Given the description of an element on the screen output the (x, y) to click on. 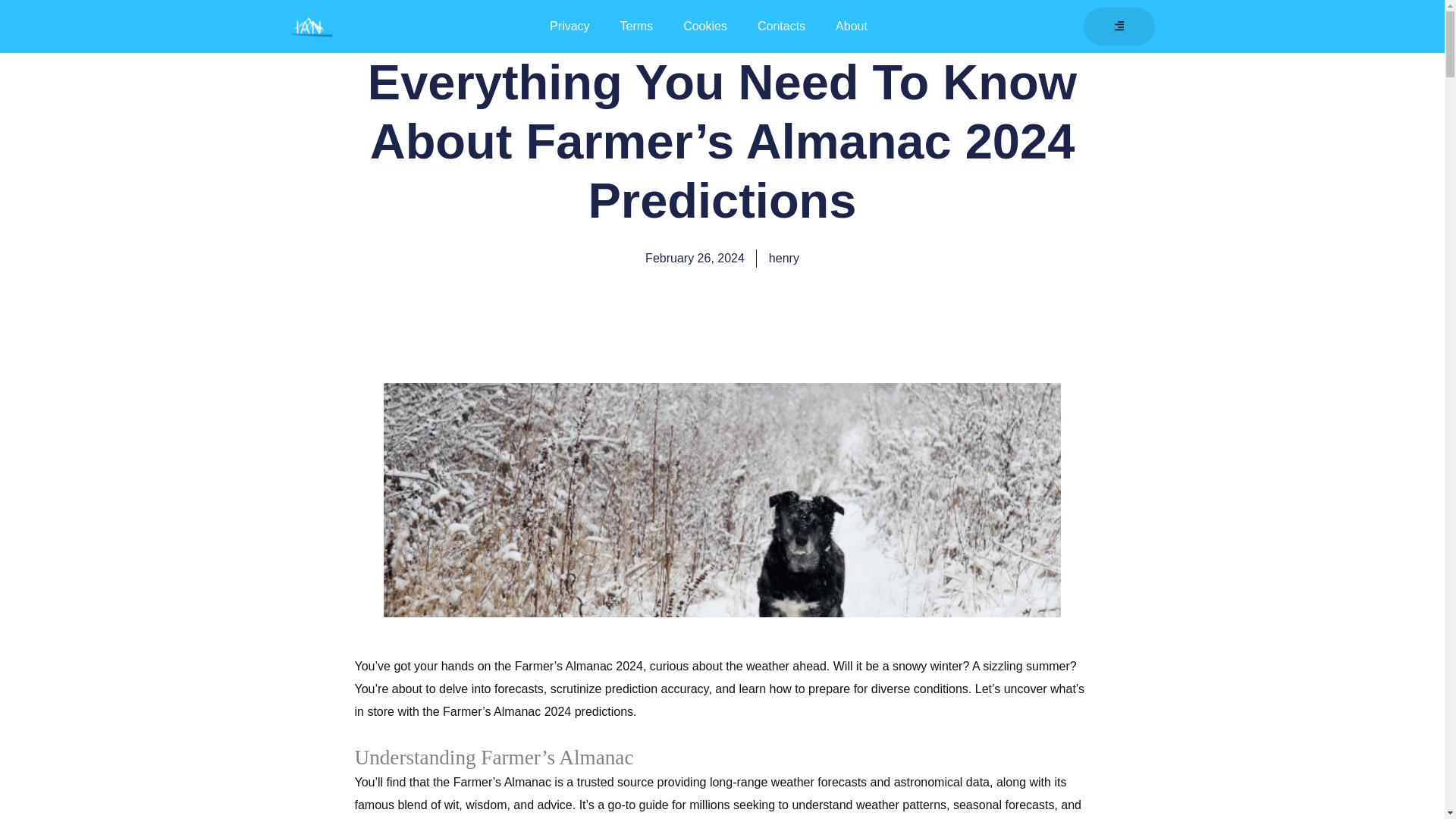
Terms (636, 26)
henry (783, 258)
Cookies (705, 26)
Contacts (781, 26)
February 26, 2024 (694, 258)
About (851, 26)
Privacy (569, 26)
